Given the description of an element on the screen output the (x, y) to click on. 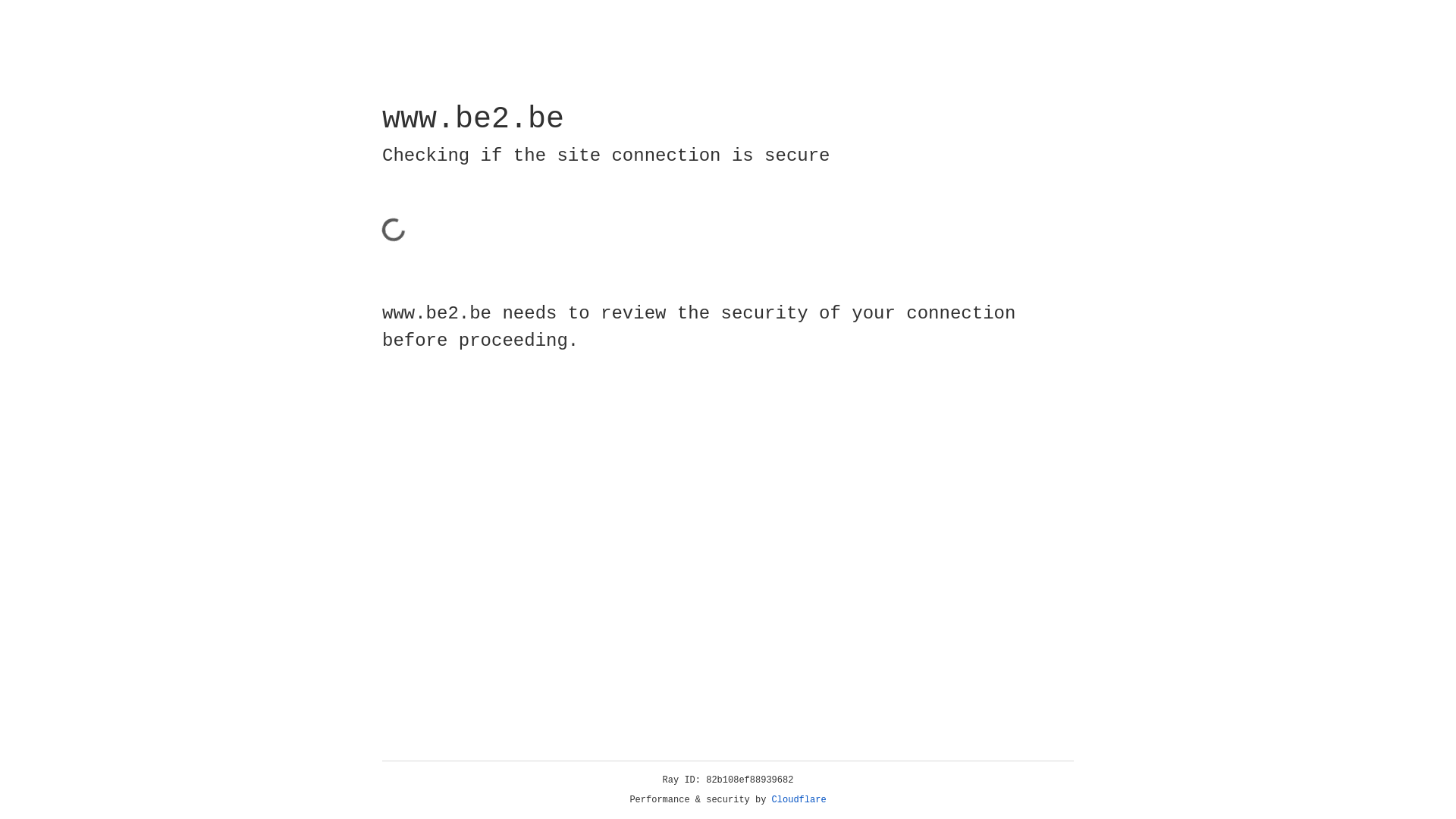
Cloudflare Element type: text (798, 799)
